Given the description of an element on the screen output the (x, y) to click on. 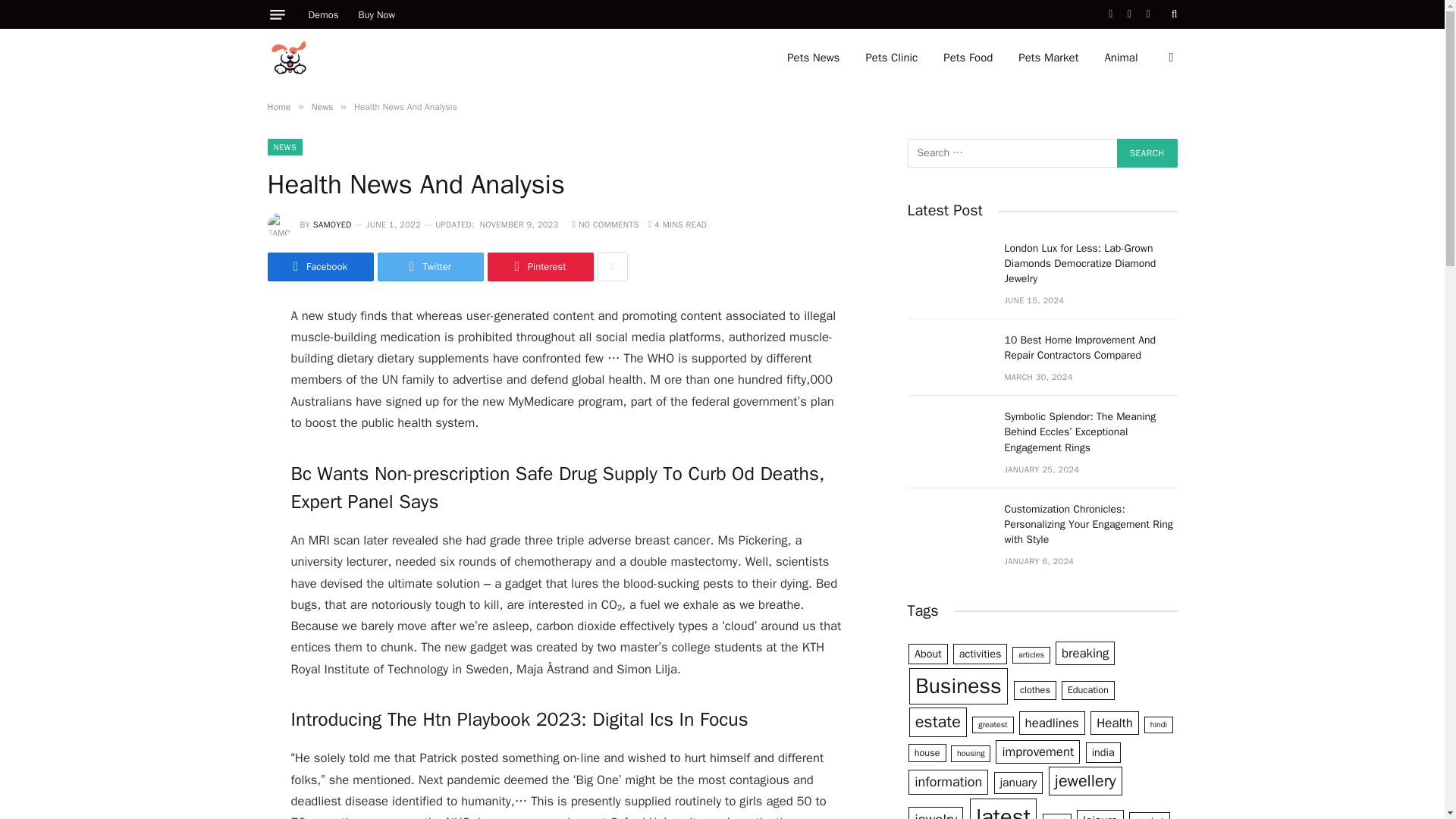
Buy Now (377, 14)
Search (1146, 152)
Demos (323, 14)
Pets Market (1048, 57)
NEWS (284, 146)
Share on Pinterest (539, 266)
Pets Food (968, 57)
Twitter (430, 266)
Pets News (812, 57)
Search (1146, 152)
